Given the description of an element on the screen output the (x, y) to click on. 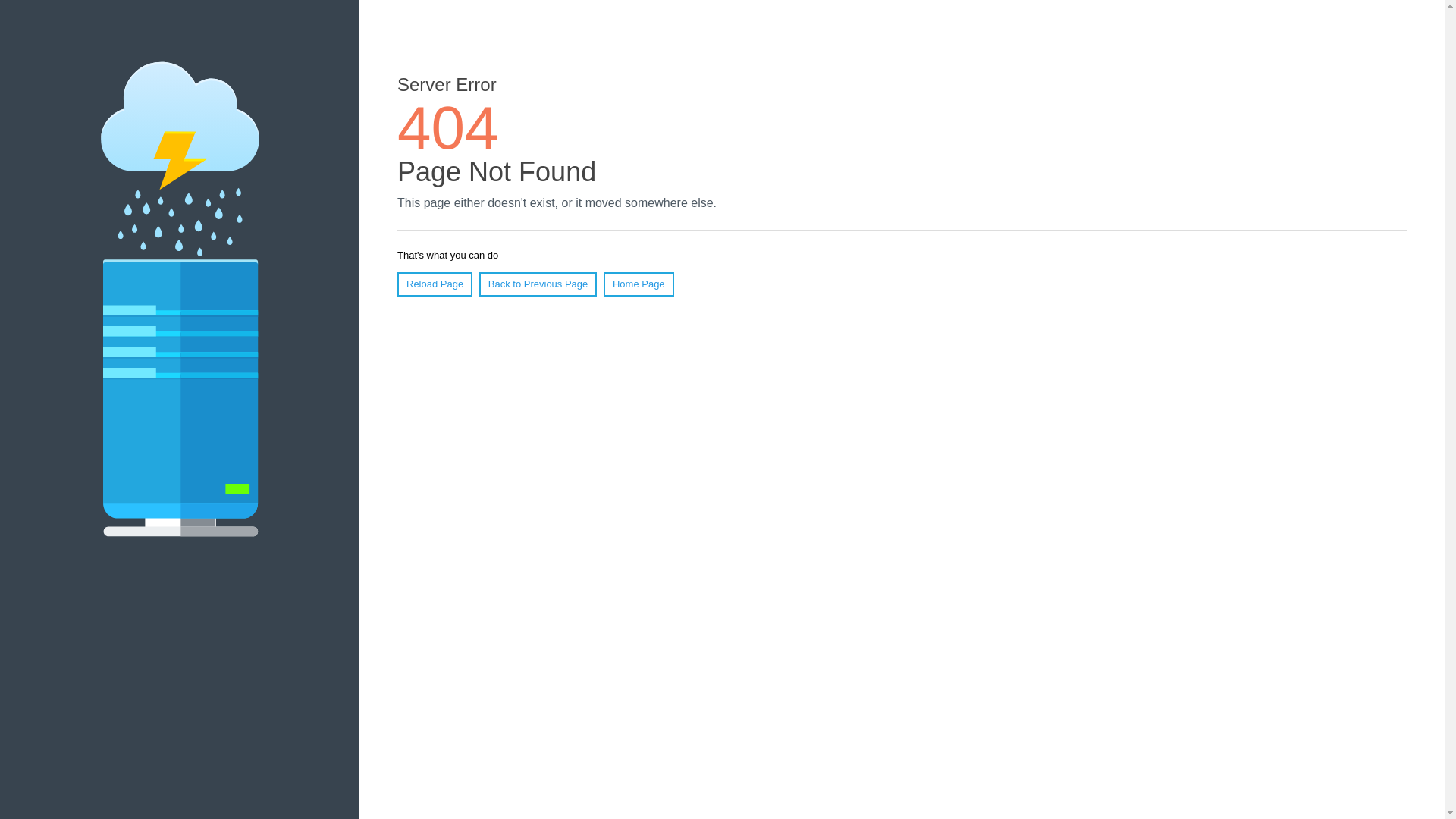
Home Page (639, 283)
Back to Previous Page (537, 283)
Reload Page (434, 283)
